Given the description of an element on the screen output the (x, y) to click on. 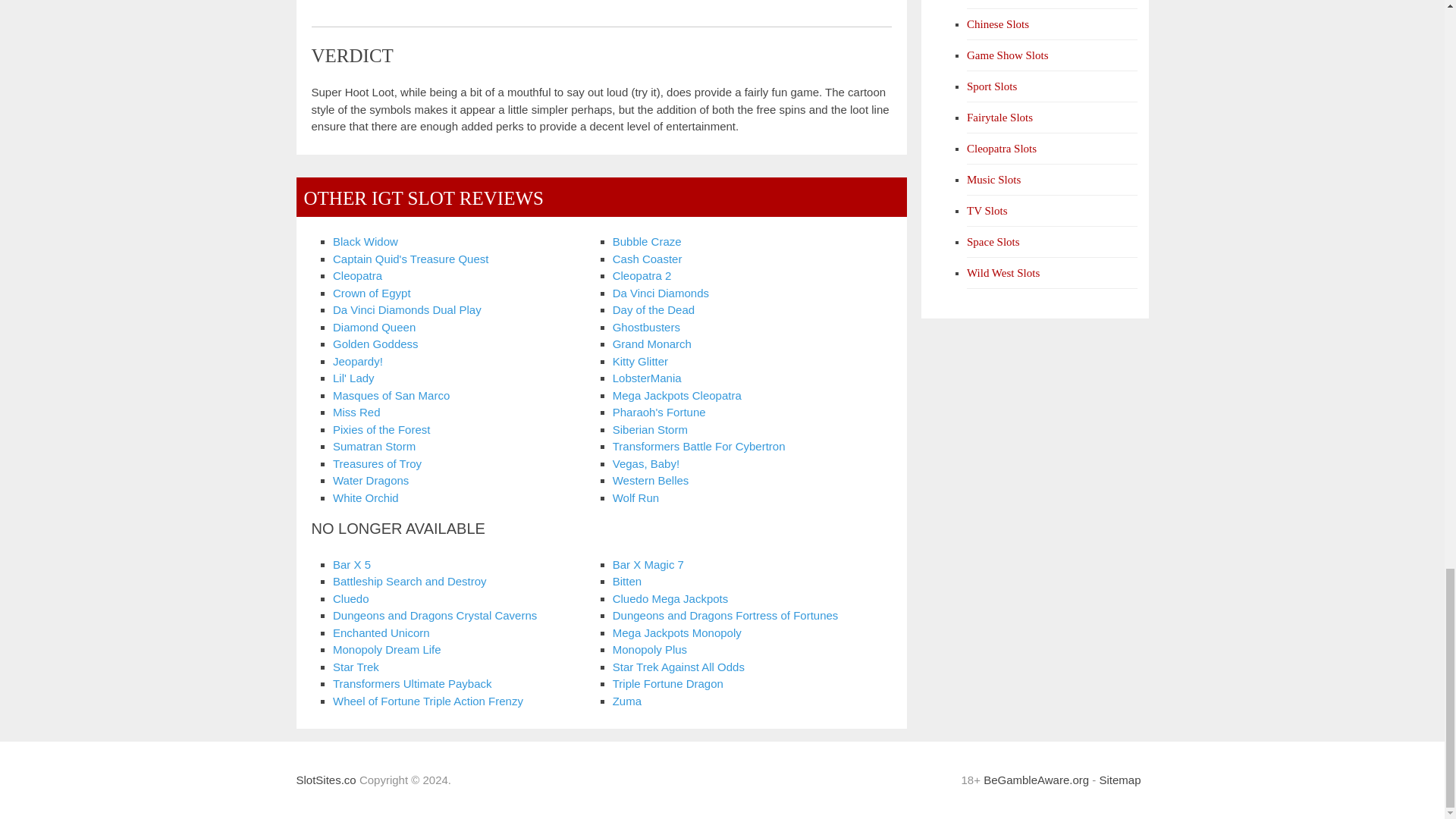
Play Online Slots For Real Money (325, 779)
Water Dragons (371, 480)
Miss Red (356, 411)
Pharaoh's Fortune (659, 411)
Mega Jackpots Cleopatra (676, 395)
Cleopatra 2 (641, 275)
Diamond Queen (373, 327)
Masques of San Marco (391, 395)
Ghostbusters (645, 327)
Captain Quid's Treasure Quest (410, 258)
LobsterMania (646, 377)
Western Belles (650, 480)
Transformers Battle For Cybertron (699, 445)
White Orchid (365, 497)
Golden Goddess (376, 343)
